Given the description of an element on the screen output the (x, y) to click on. 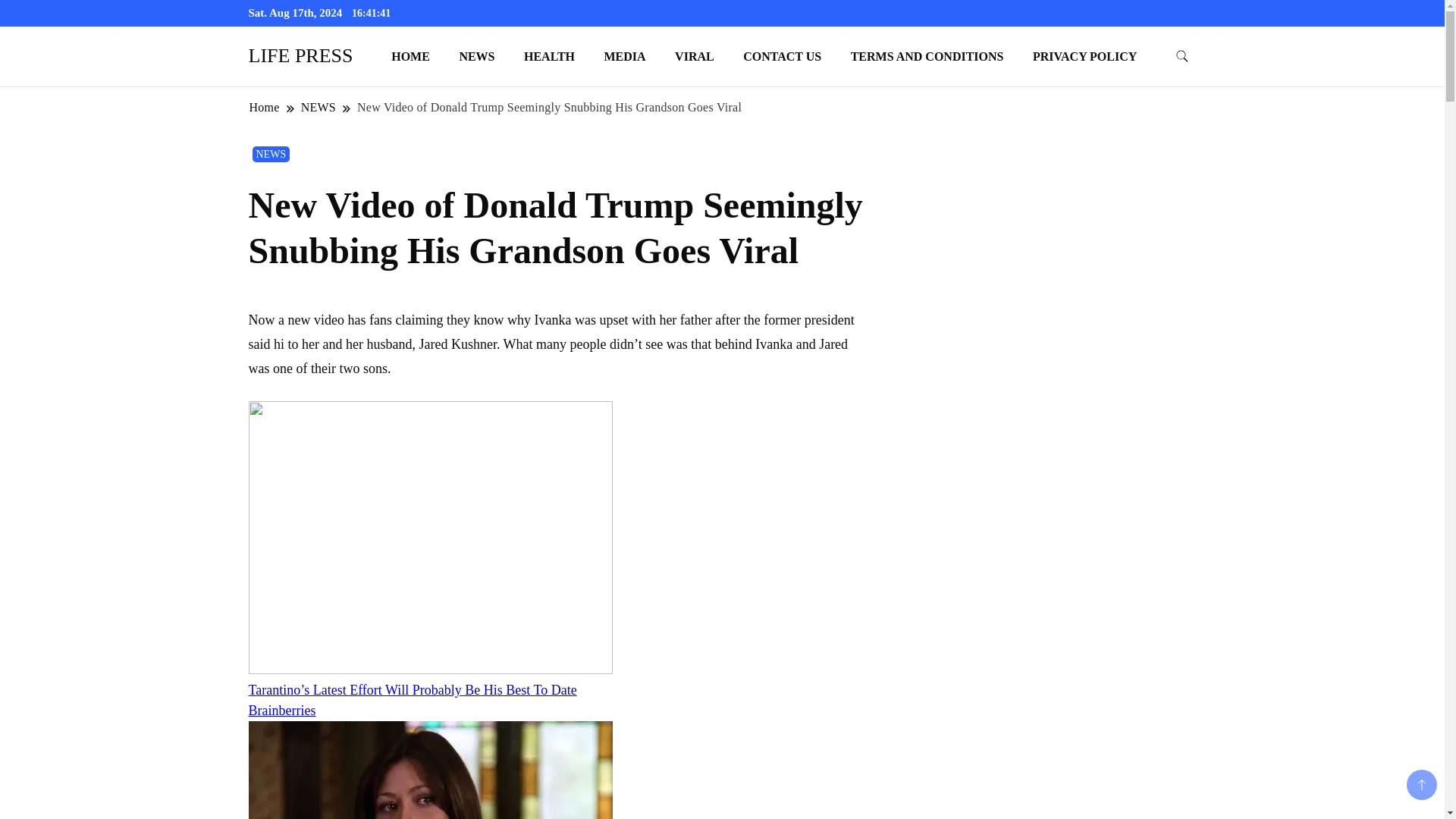
HEALTH (549, 56)
LIFE PRESS (300, 55)
CONTACT US (782, 56)
HOME (410, 56)
VIRAL (694, 56)
NEWS (270, 154)
TERMS AND CONDITIONS (927, 56)
NEWS (317, 106)
Home (264, 106)
